Given the description of an element on the screen output the (x, y) to click on. 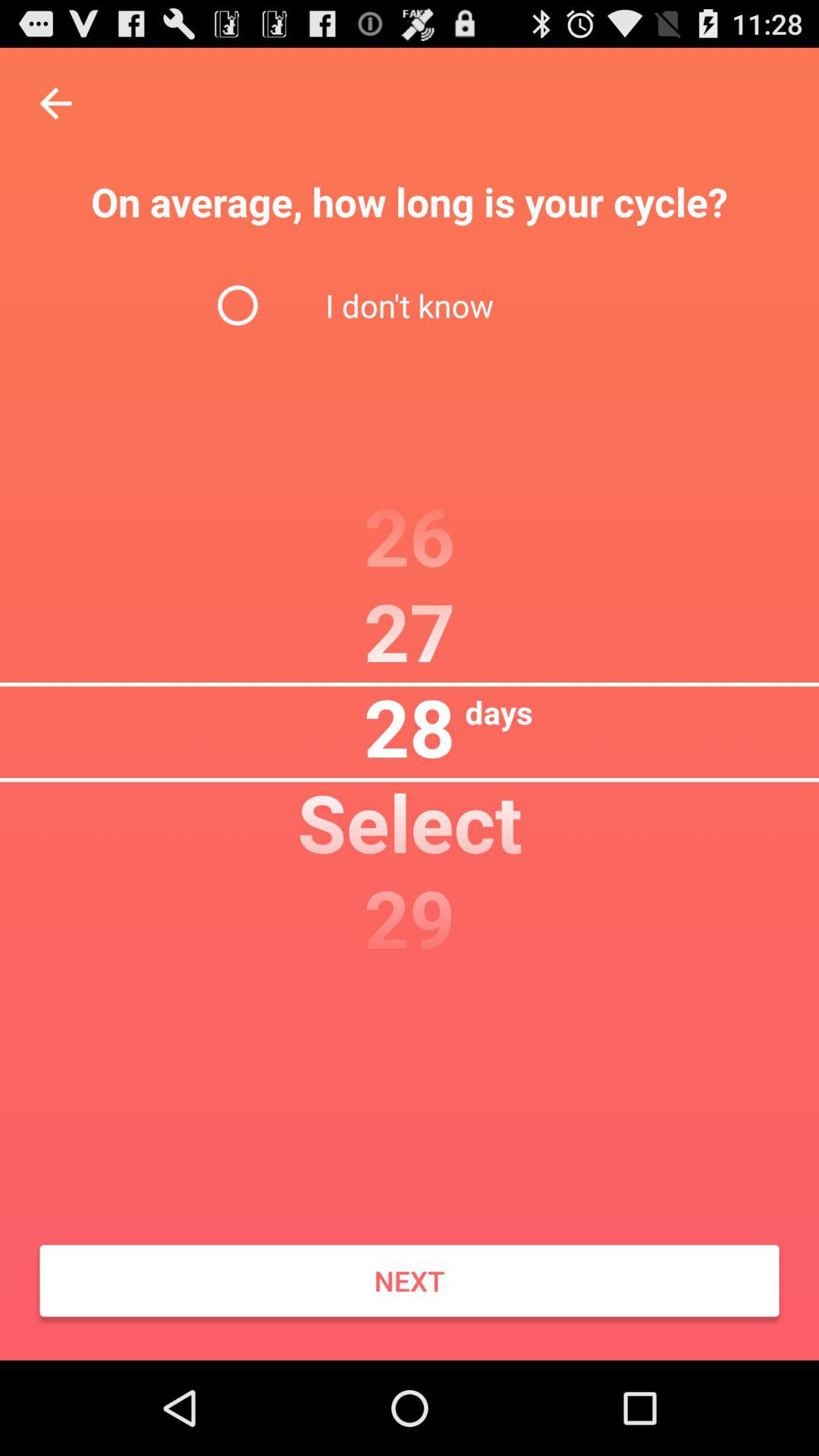
tap item below the on average how item (409, 304)
